Given the description of an element on the screen output the (x, y) to click on. 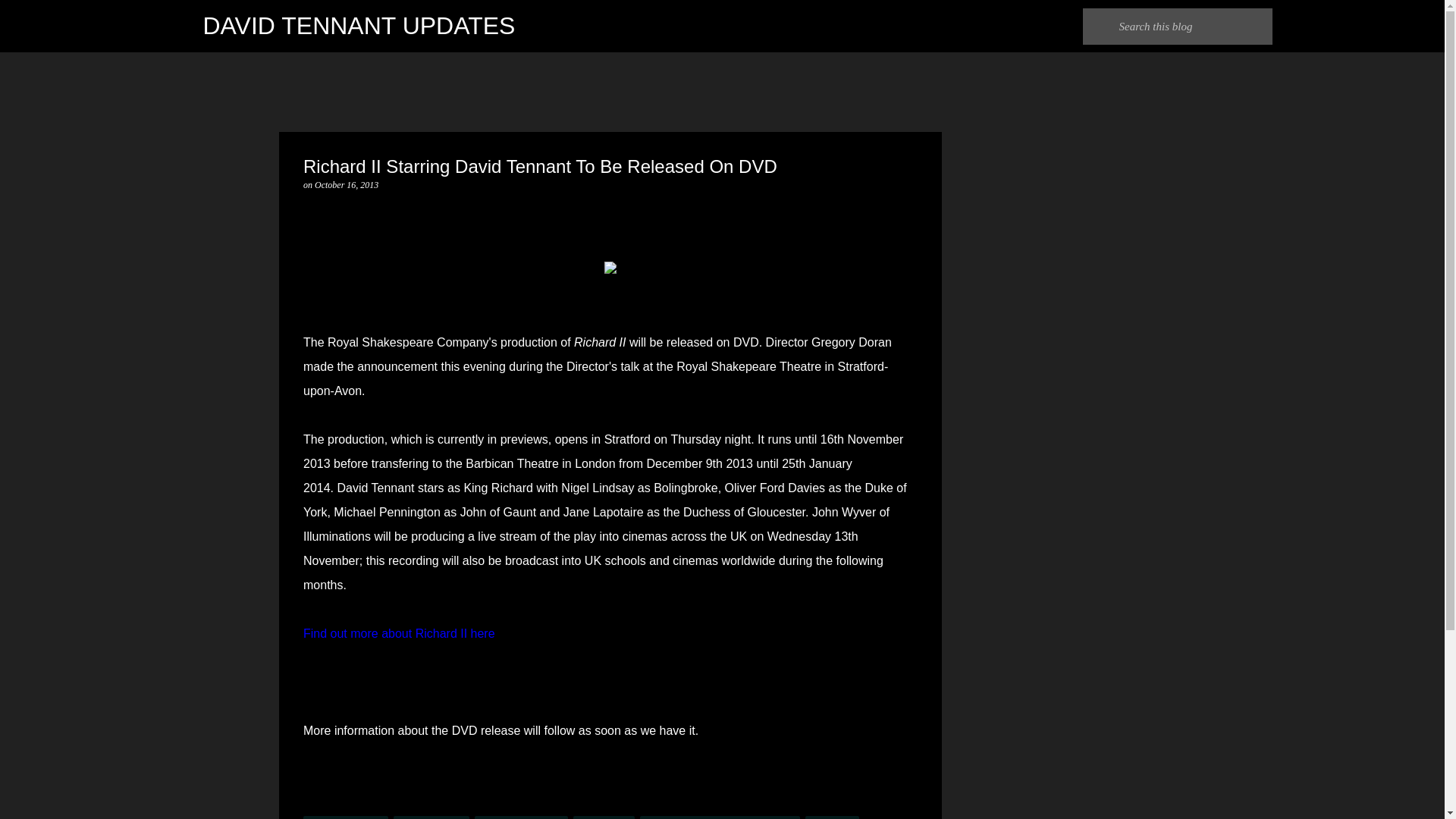
Find out more about Richard II here (398, 633)
ROYAL SHAKESPEARE COMPANY (719, 817)
Email Post (311, 806)
DAVID TENNANT (345, 817)
DAVID TENNANT UPDATES (359, 25)
GREGORY DORAN (521, 817)
permanent link (346, 184)
RICHARD II (603, 817)
DVD RELEASE (430, 817)
October 16, 2013 (346, 184)
